Given the description of an element on the screen output the (x, y) to click on. 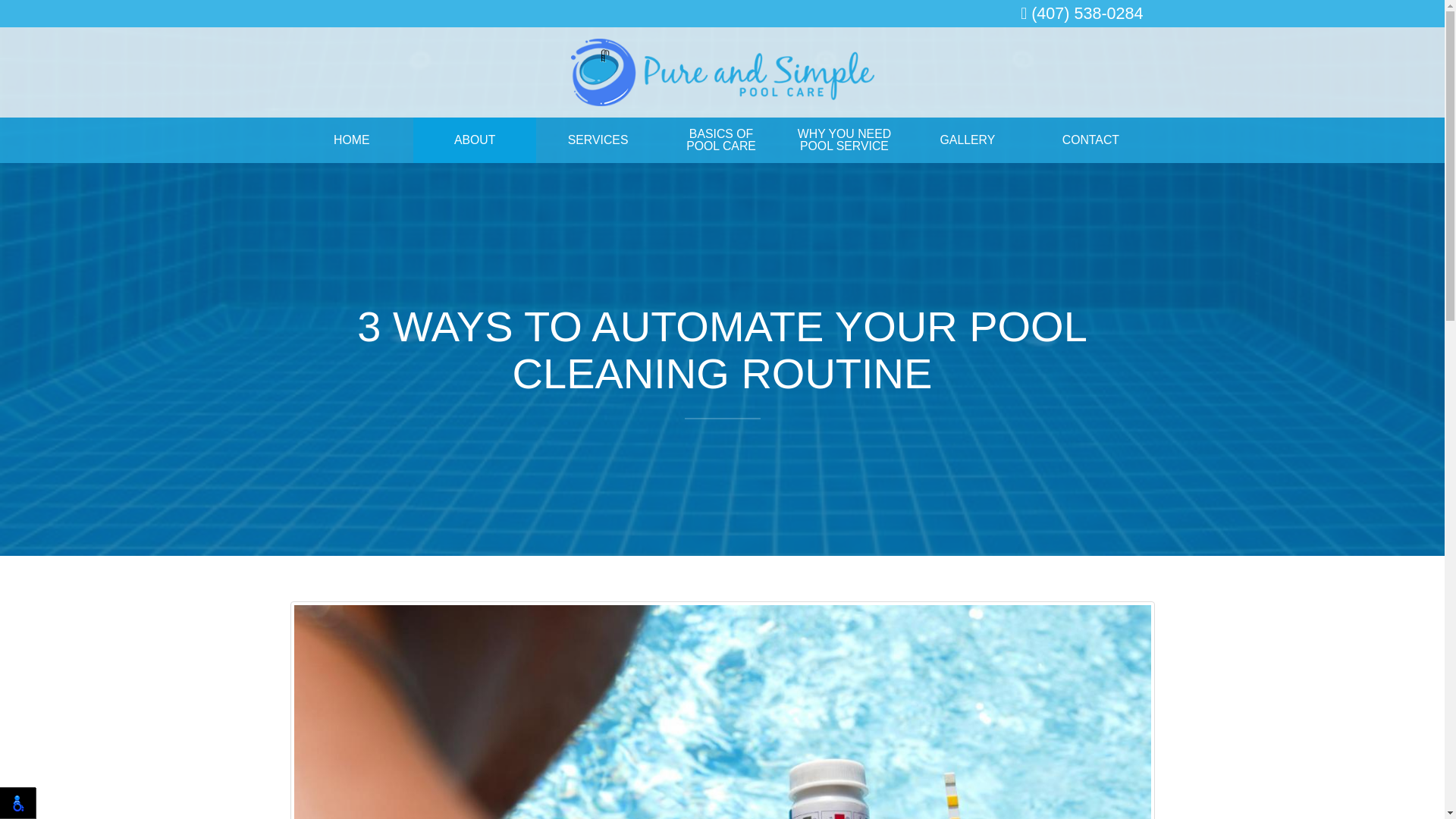
GALLERY (967, 139)
Home (350, 139)
HOME (721, 139)
Gallery (350, 139)
Why You Need Pool Service (967, 139)
Contact (844, 139)
SERVICES (1090, 139)
About (597, 139)
ABOUT (474, 139)
